Given the description of an element on the screen output the (x, y) to click on. 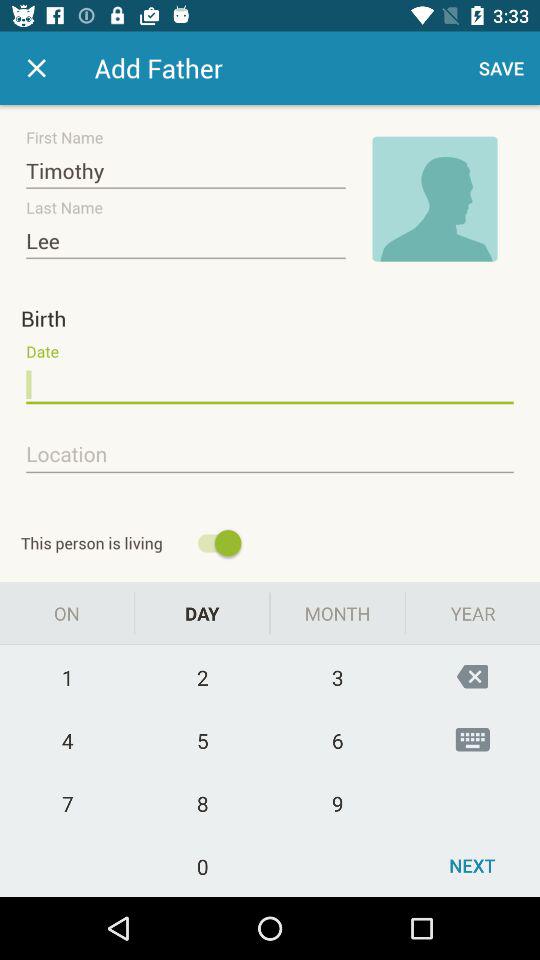
see profile image (435, 199)
